Given the description of an element on the screen output the (x, y) to click on. 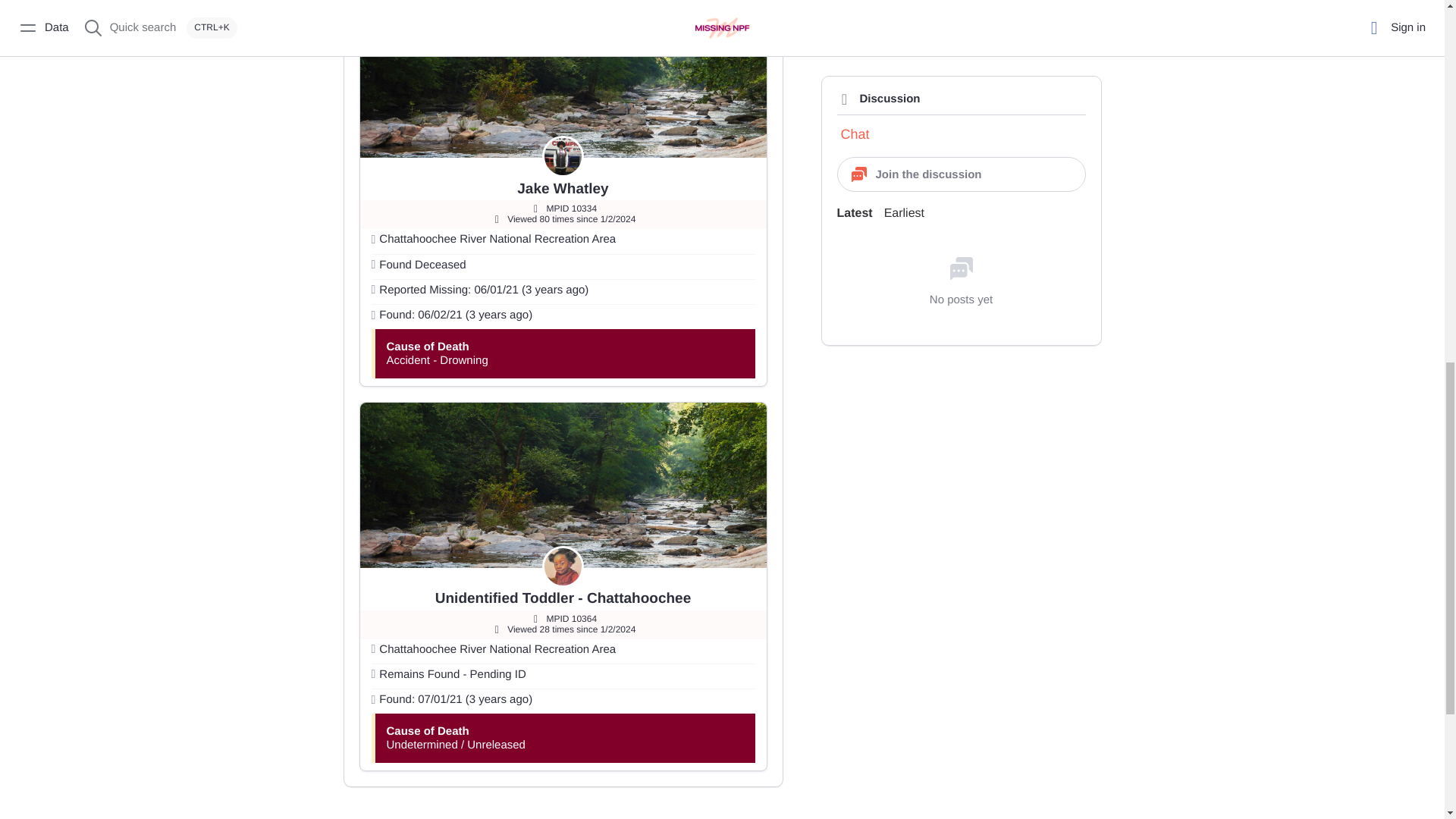
Unidentified Toddler - Chattahoochee (562, 598)
Jake Whatley (562, 188)
